Given the description of an element on the screen output the (x, y) to click on. 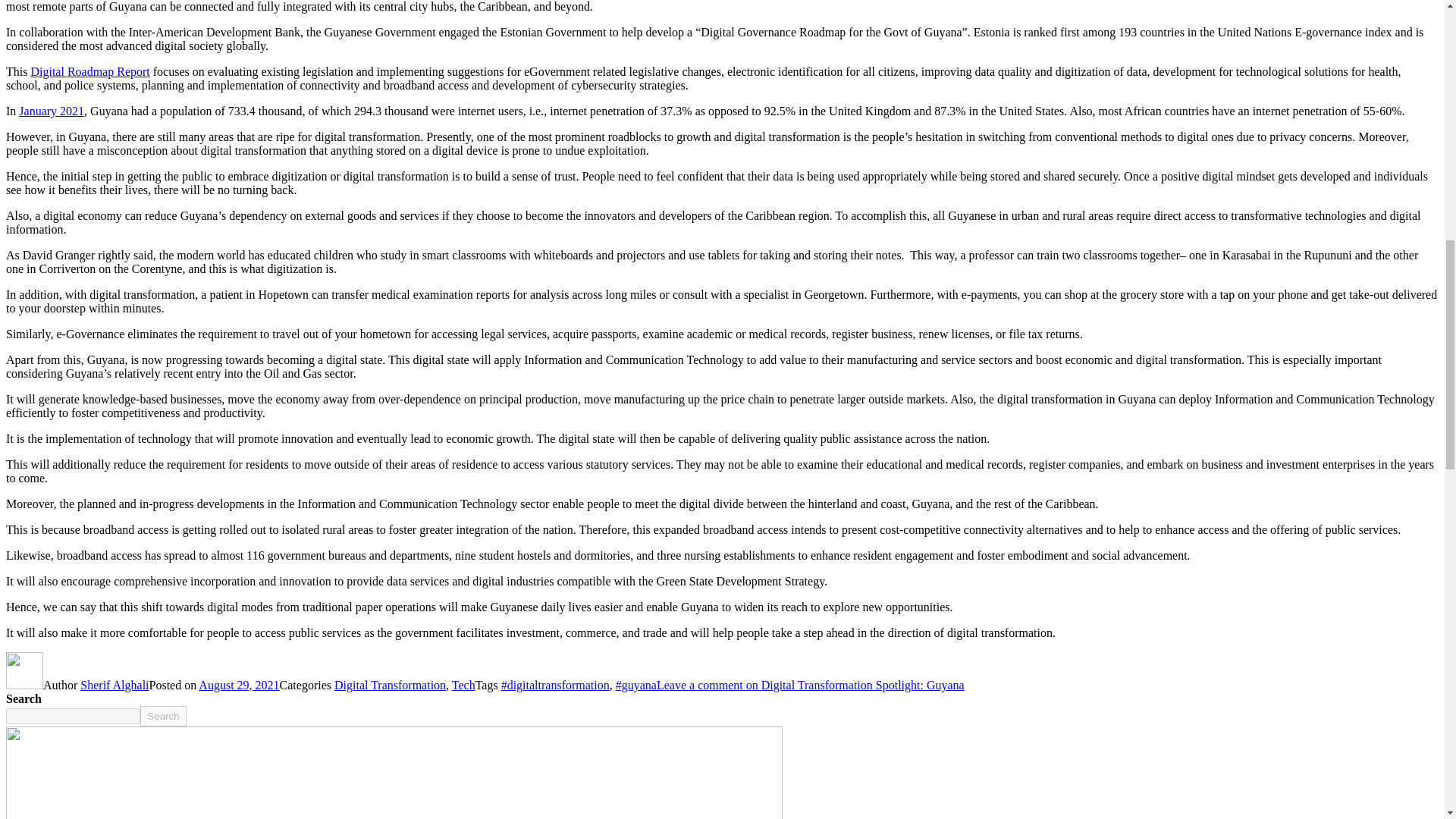
Leave a comment on Digital Transformation Spotlight: Guyana (809, 684)
Tech (463, 684)
January 2021 (51, 110)
Sherif Alghali (114, 684)
Search (162, 715)
Digital Transformation (389, 684)
August 29, 2021 (238, 684)
Digital Roadmap Report (89, 71)
